Given the description of an element on the screen output the (x, y) to click on. 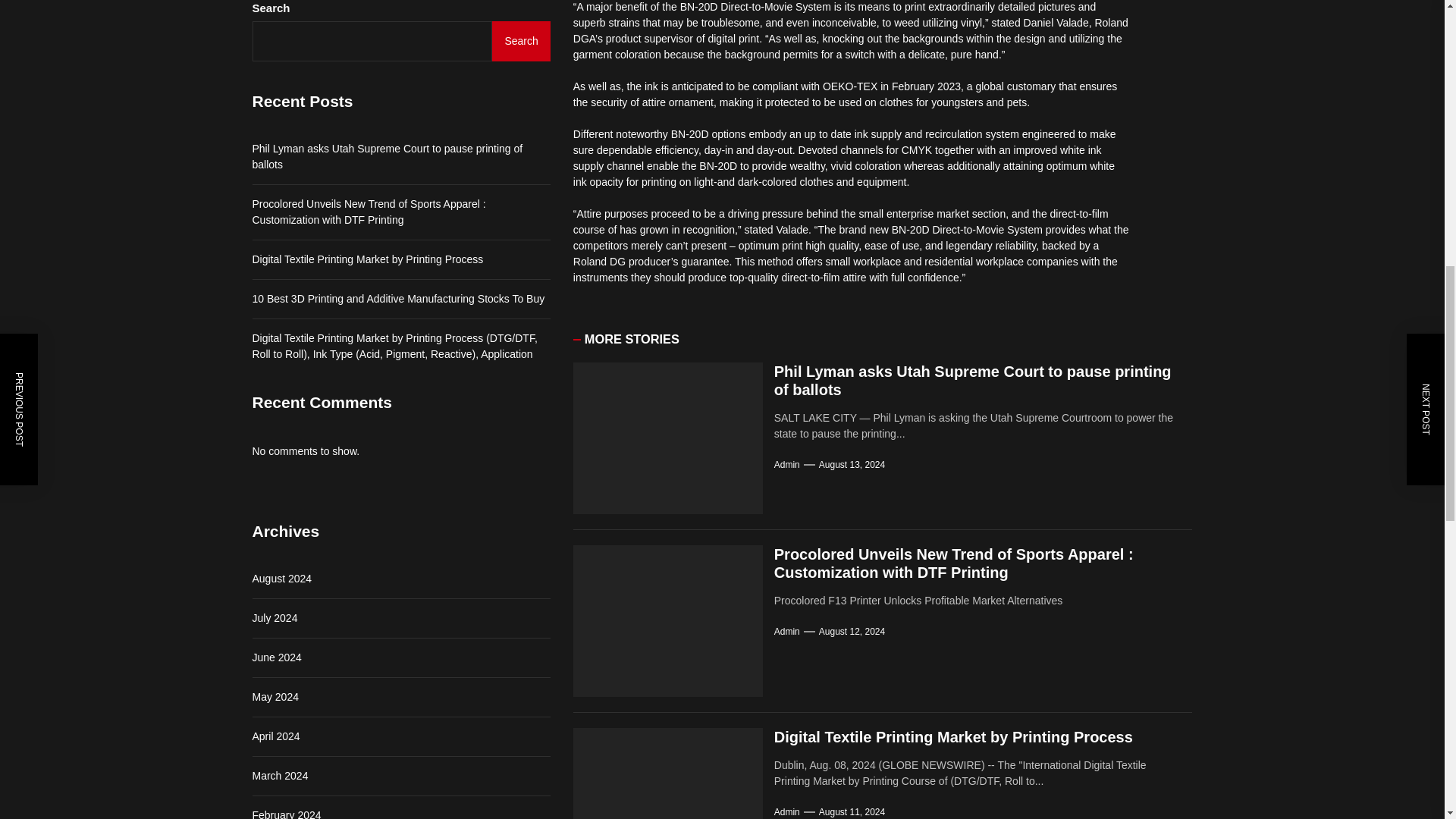
August 12, 2024 (851, 631)
August 11, 2024 (851, 812)
Admin (786, 812)
Digital Textile Printing Market by Printing Process (953, 736)
Admin (786, 464)
August 13, 2024 (851, 464)
Admin (786, 631)
